Given the description of an element on the screen output the (x, y) to click on. 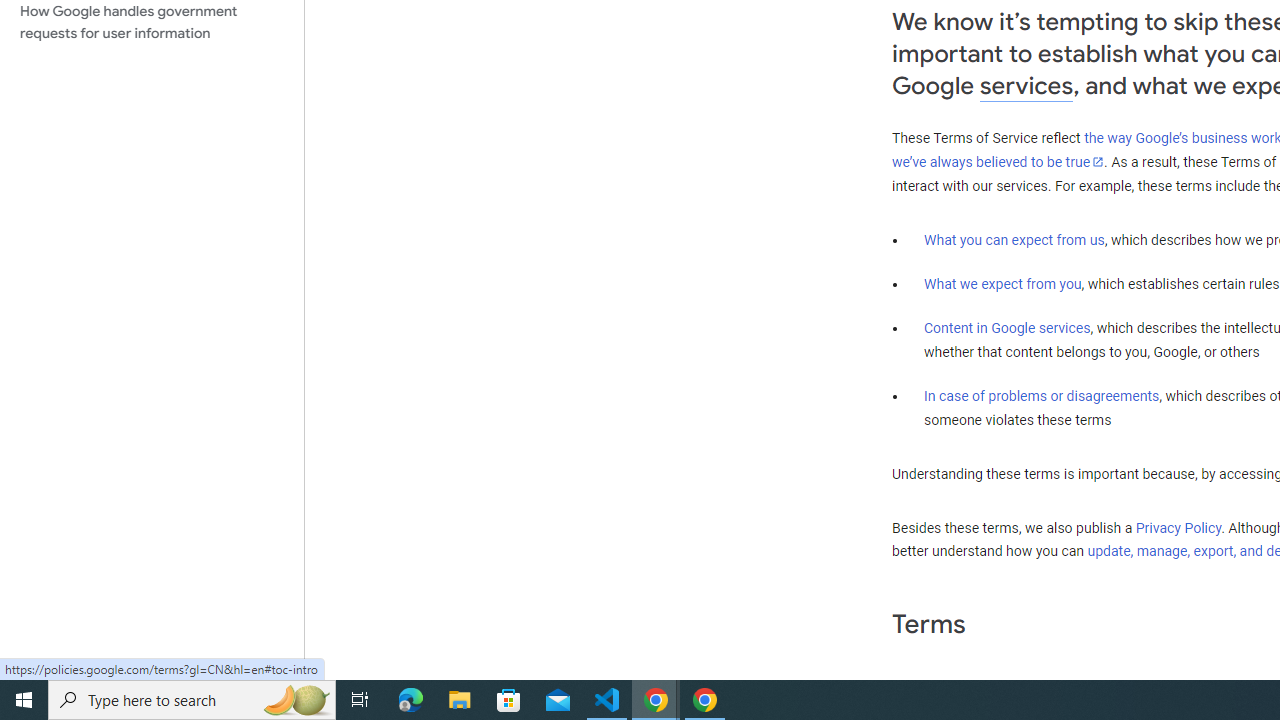
services (1026, 85)
What you can expect from us (1014, 240)
What we expect from you (1002, 284)
